Given the description of an element on the screen output the (x, y) to click on. 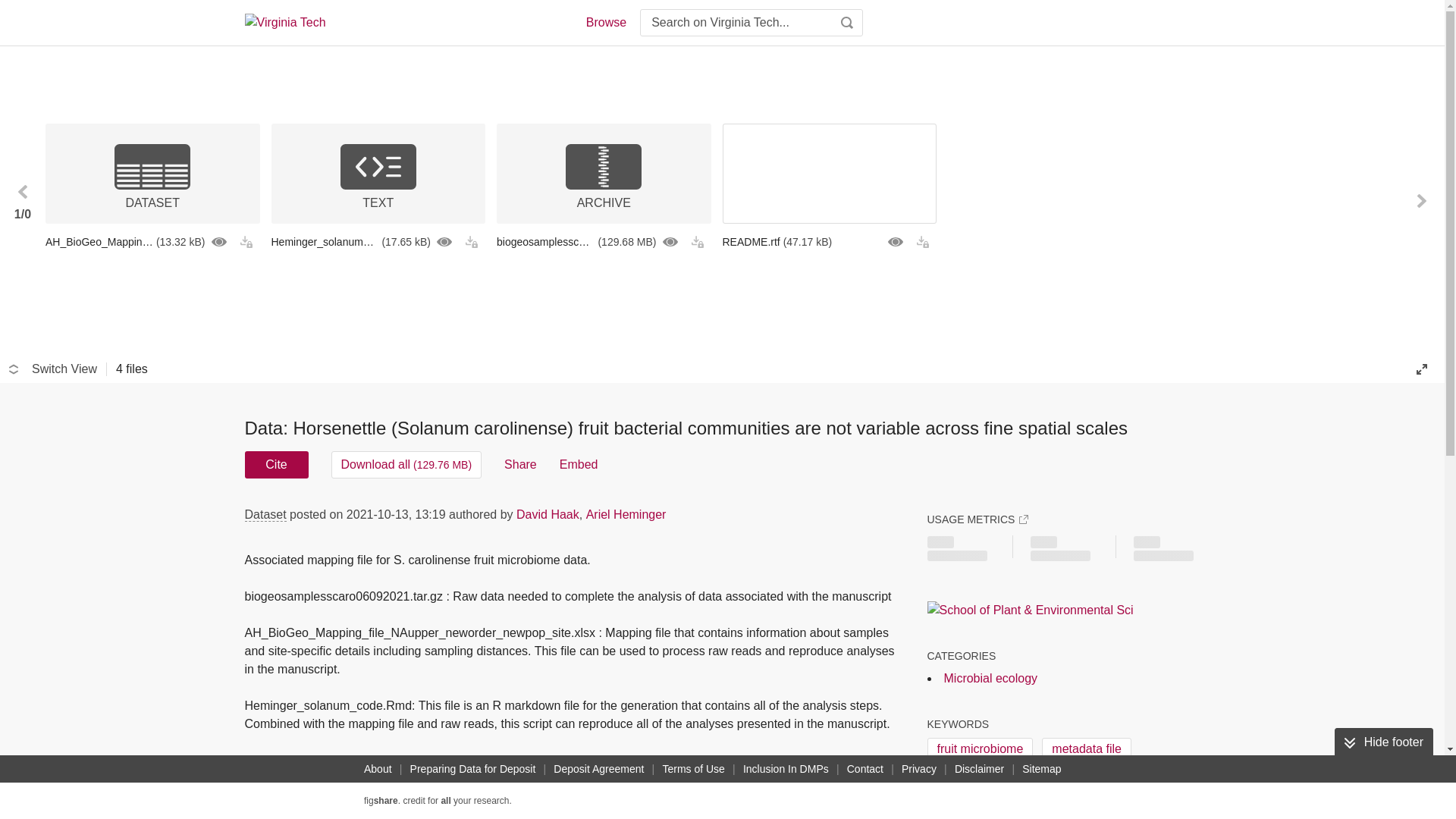
Share (520, 464)
David Haak (547, 513)
Microbial ecology (989, 677)
Ariel Heminger (626, 513)
R markdown (1111, 780)
README.rtf (829, 241)
USAGE METRICS (976, 519)
biogeosamplesscaro06092021.tar.gz (603, 241)
metadata file (1086, 748)
Cite (275, 464)
